Given the description of an element on the screen output the (x, y) to click on. 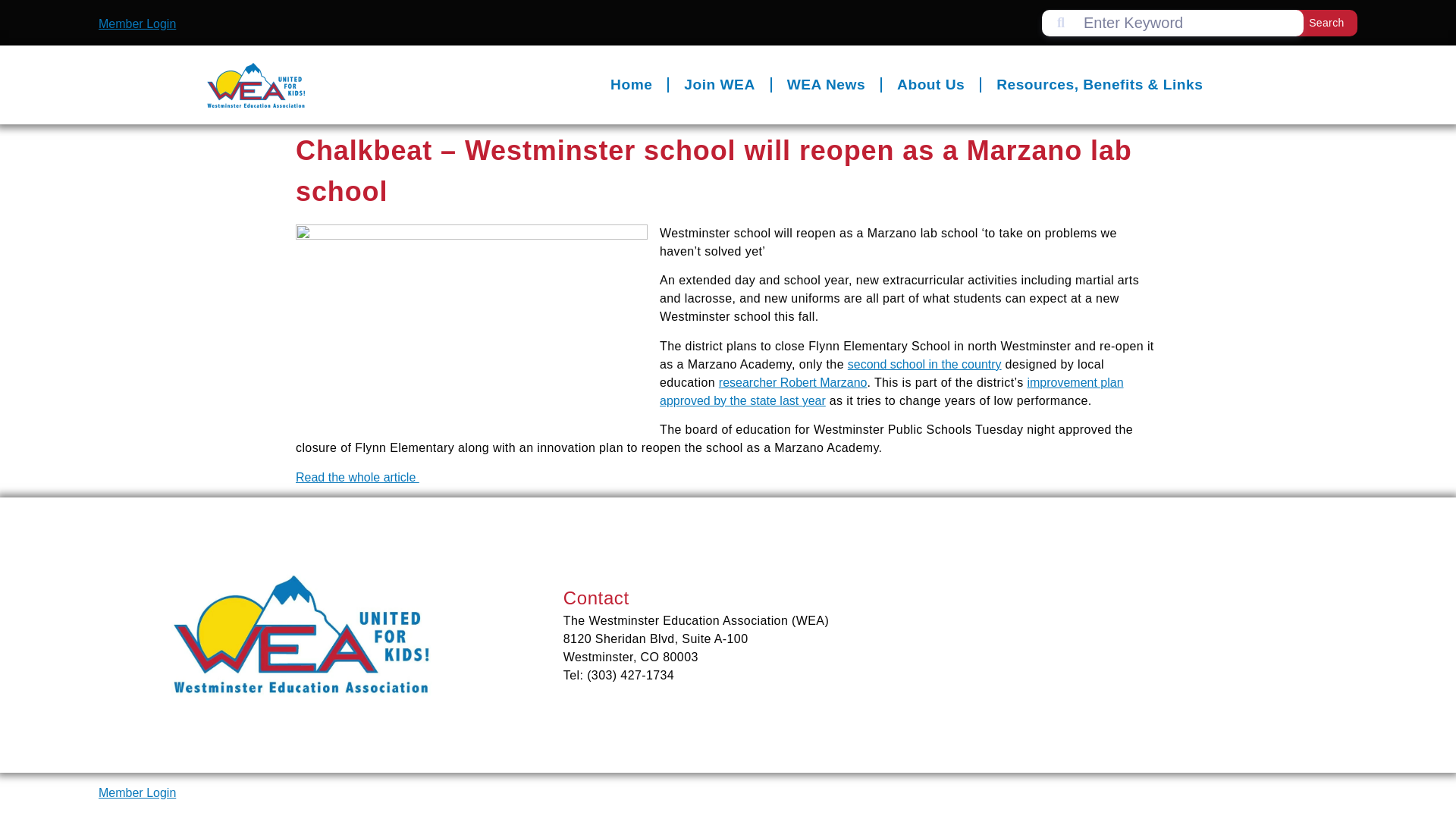
improvement plan approved by the state last year (885, 391)
researcher Robert Marzano (787, 382)
Read the whole article  (351, 477)
Home (624, 24)
westminster education association (1153, 659)
About Us (923, 36)
Join WEA (712, 26)
Member Login (131, 23)
WEA News (818, 31)
Member Login (137, 792)
